Given the description of an element on the screen output the (x, y) to click on. 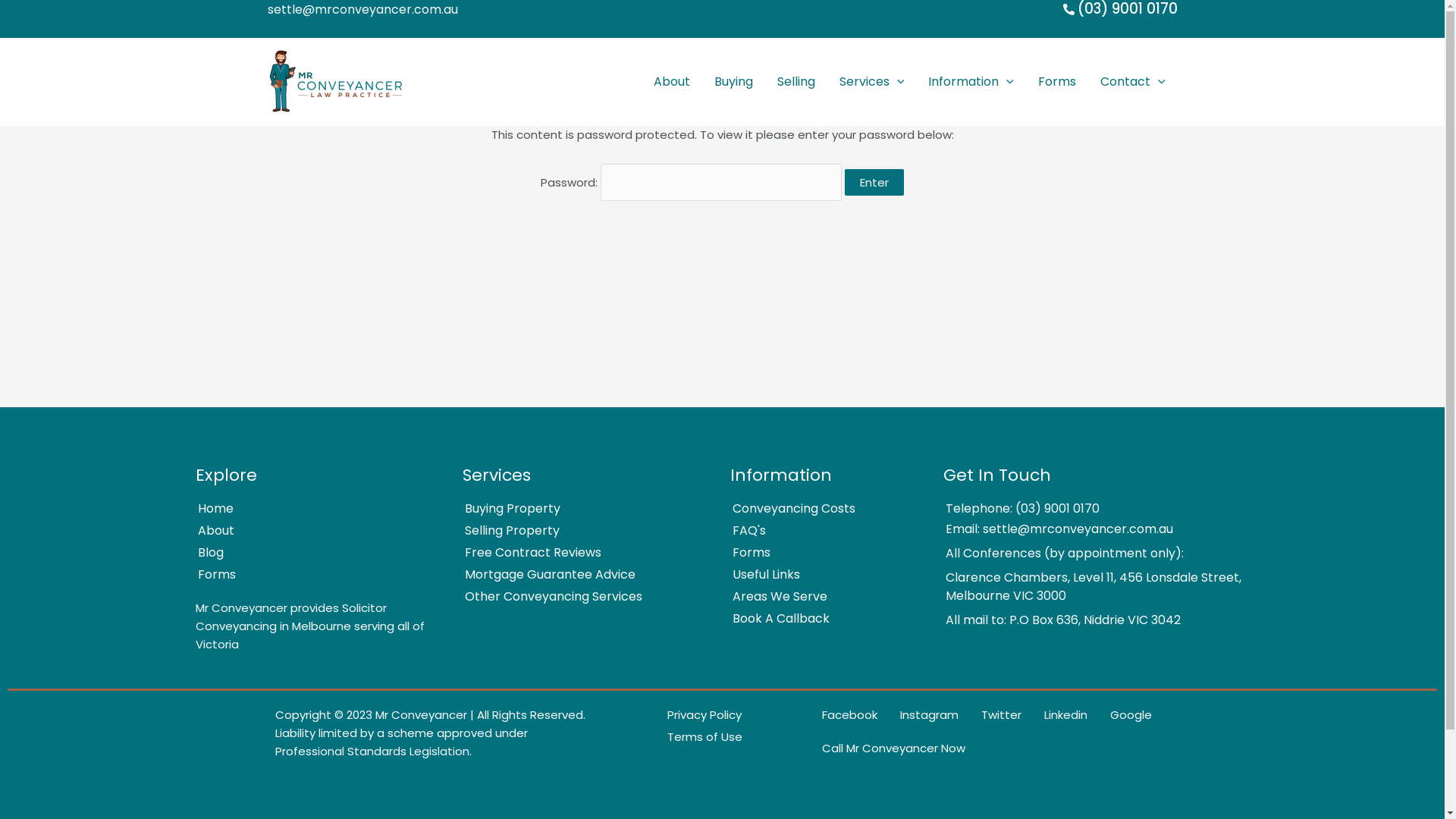
Book A Callback Element type: text (819, 618)
About Element type: text (312, 530)
Twitter Element type: text (990, 715)
Forms Element type: text (1057, 81)
About Element type: text (671, 81)
Information Element type: text (971, 81)
Buying Property Element type: text (579, 508)
Telephone: (03) 9001 0170 Element type: text (1086, 508)
Forms Element type: text (819, 552)
Services Element type: text (871, 81)
Useful Links Element type: text (819, 574)
Enter Element type: text (873, 181)
Google Element type: text (1120, 715)
Free Contract Reviews Element type: text (579, 552)
Forms Element type: text (312, 574)
Call Mr Conveyancer Now Element type: text (983, 748)
settle@mrconveyancer.com.au Element type: text (361, 8)
Instagram Element type: text (918, 715)
FAQ's Element type: text (819, 530)
Terms of Use Element type: text (693, 737)
Buying Element type: text (733, 81)
Contact Element type: text (1132, 81)
Other Conveyancing Services Element type: text (579, 596)
Email: settle@mrconveyancer.com.au Element type: text (1086, 529)
Privacy Policy Element type: text (693, 715)
Selling Property Element type: text (579, 530)
Mortgage Guarantee Advice Element type: text (579, 574)
Facebook Element type: text (839, 715)
Solicitor Conveyancing in Melbourne Element type: text (290, 616)
Selling Element type: text (796, 81)
Blog Element type: text (312, 552)
Linkedin Element type: text (1055, 715)
Home Element type: text (312, 508)
Conveyancing Costs Element type: text (819, 508)
Areas We Serve Element type: text (819, 596)
